Given the description of an element on the screen output the (x, y) to click on. 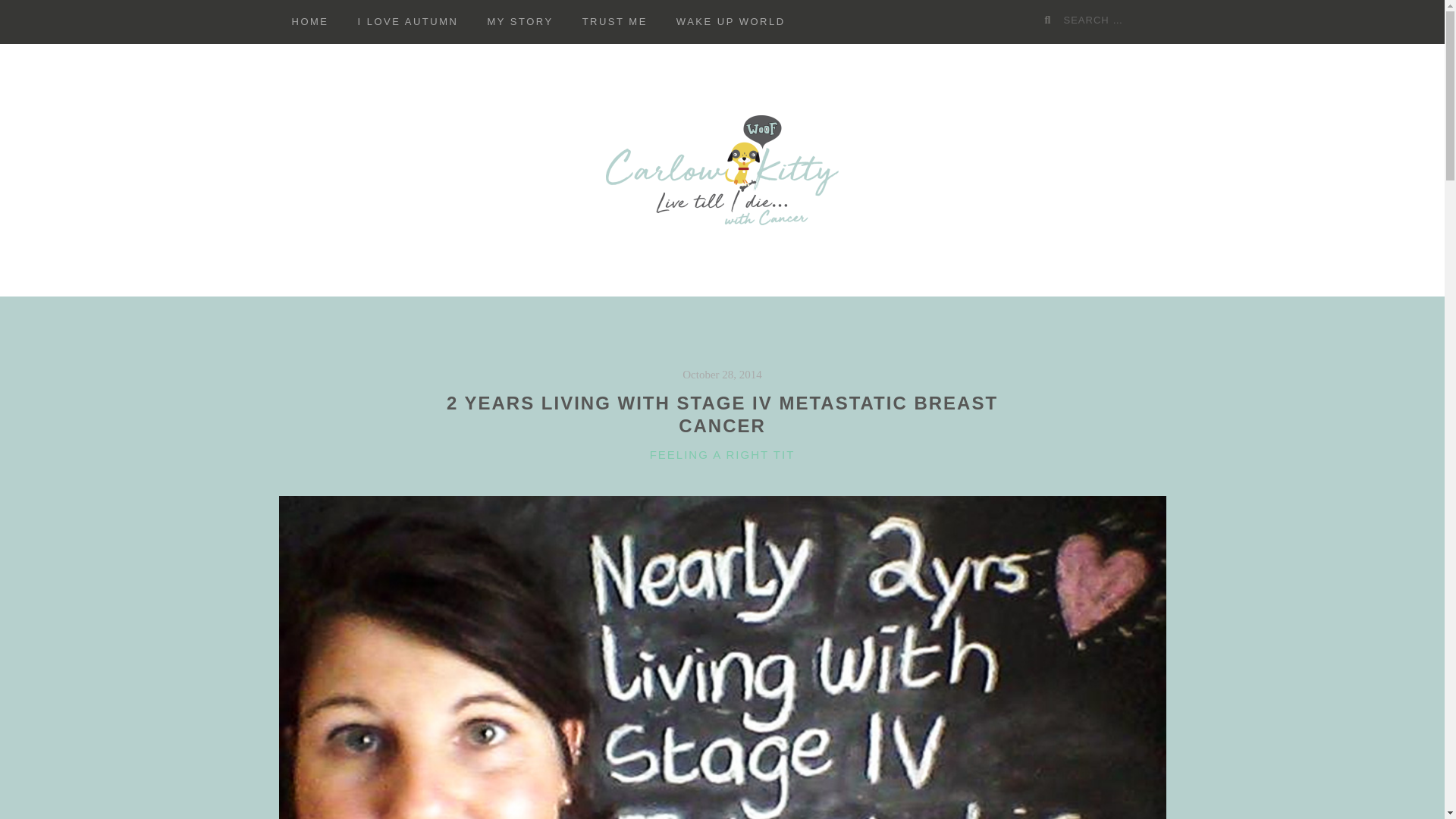
I LOVE AUTUMN (406, 21)
WAKE UP WORLD (730, 21)
FEELING A RIGHT TIT (721, 454)
HOME (310, 21)
MY STORY (520, 21)
October 28, 2014 (721, 374)
TRUST ME (615, 21)
